Given the description of an element on the screen output the (x, y) to click on. 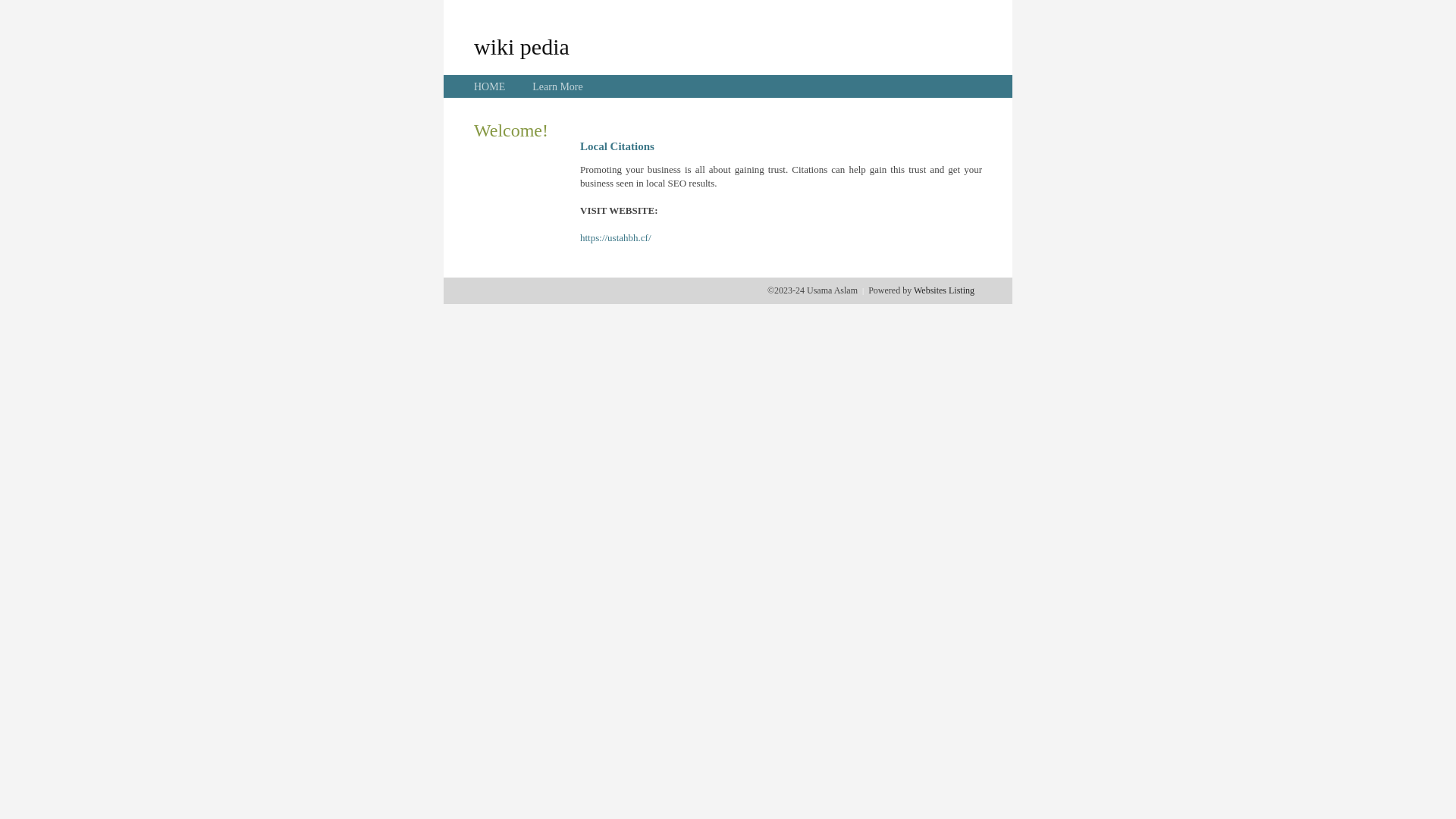
Websites Listing Element type: text (943, 290)
HOME Element type: text (489, 86)
wiki pedia Element type: text (521, 46)
https://ustahbh.cf/ Element type: text (615, 237)
Learn More Element type: text (557, 86)
